Given the description of an element on the screen output the (x, y) to click on. 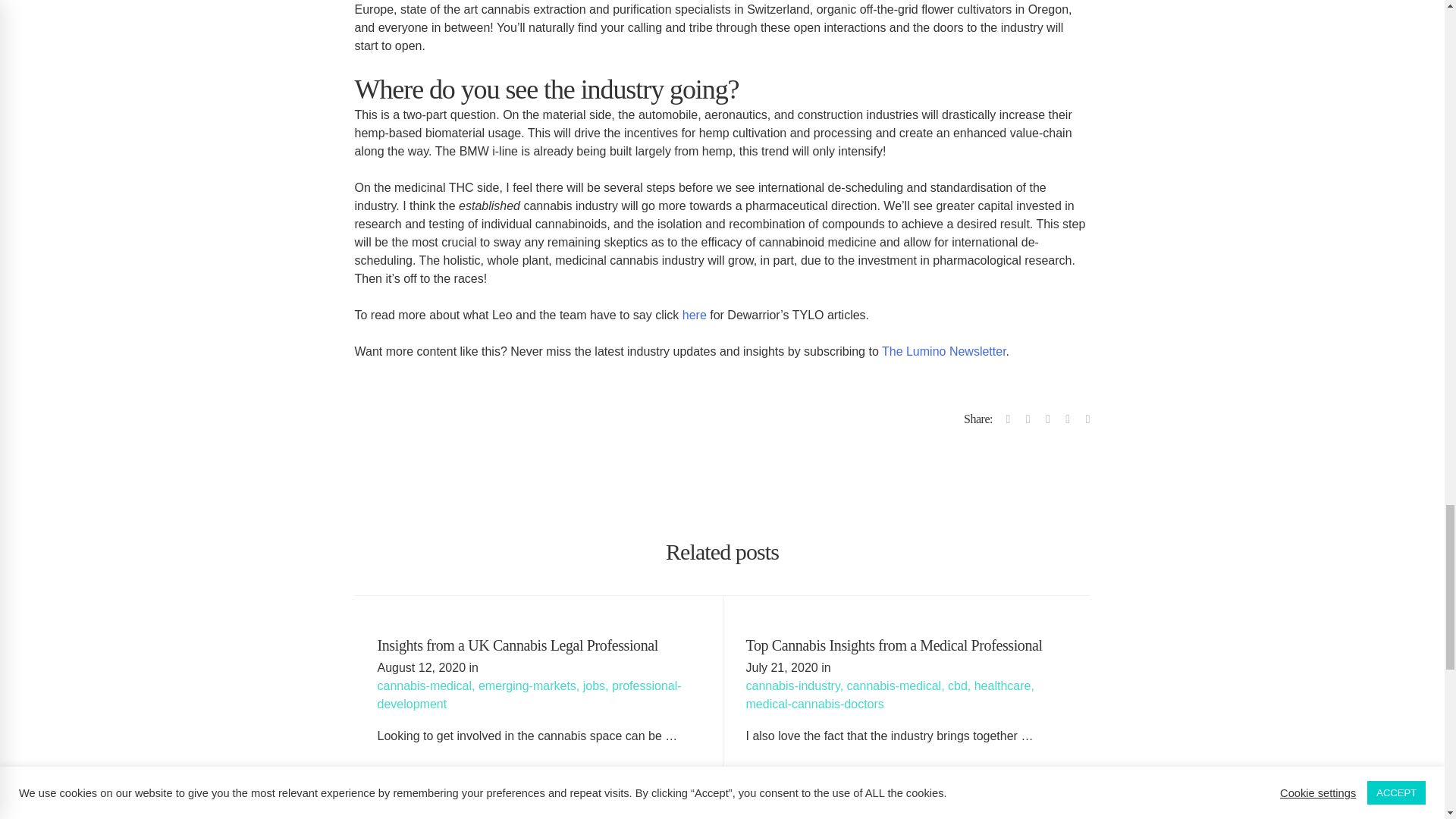
cbd (957, 685)
emerging-markets (527, 685)
Insights from a UK Cannabis Legal Professional (538, 645)
cannabis-industry (792, 685)
cannabis-medical (424, 685)
professional-development (529, 694)
healthcare (1002, 685)
here (694, 314)
Top Cannabis Insights from a Medical Professional (906, 645)
medical-cannabis-doctors (814, 703)
cannabis-medical (894, 685)
The Lumino Newsletter (944, 350)
jobs (594, 685)
